Given the description of an element on the screen output the (x, y) to click on. 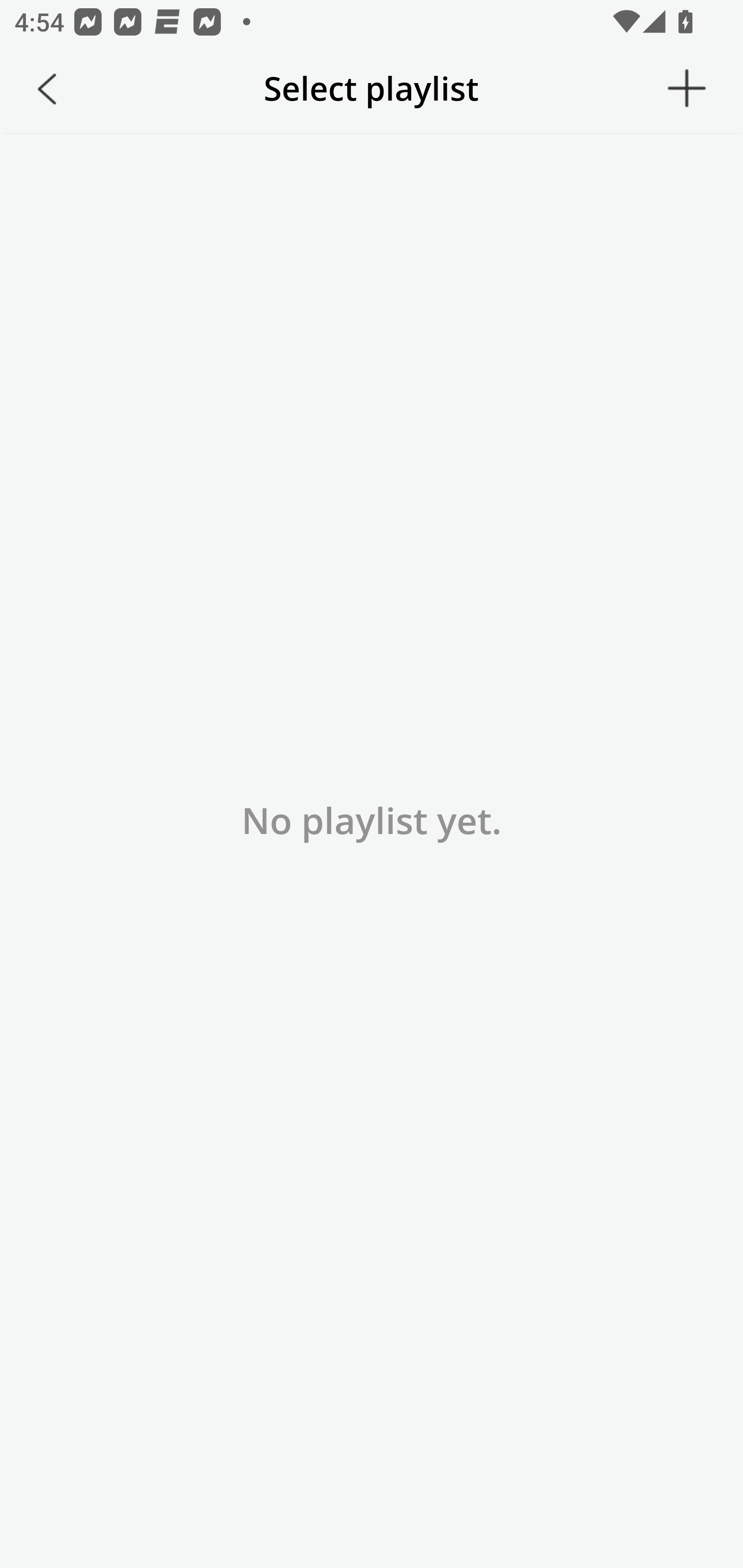
Back (46, 88)
